Given the description of an element on the screen output the (x, y) to click on. 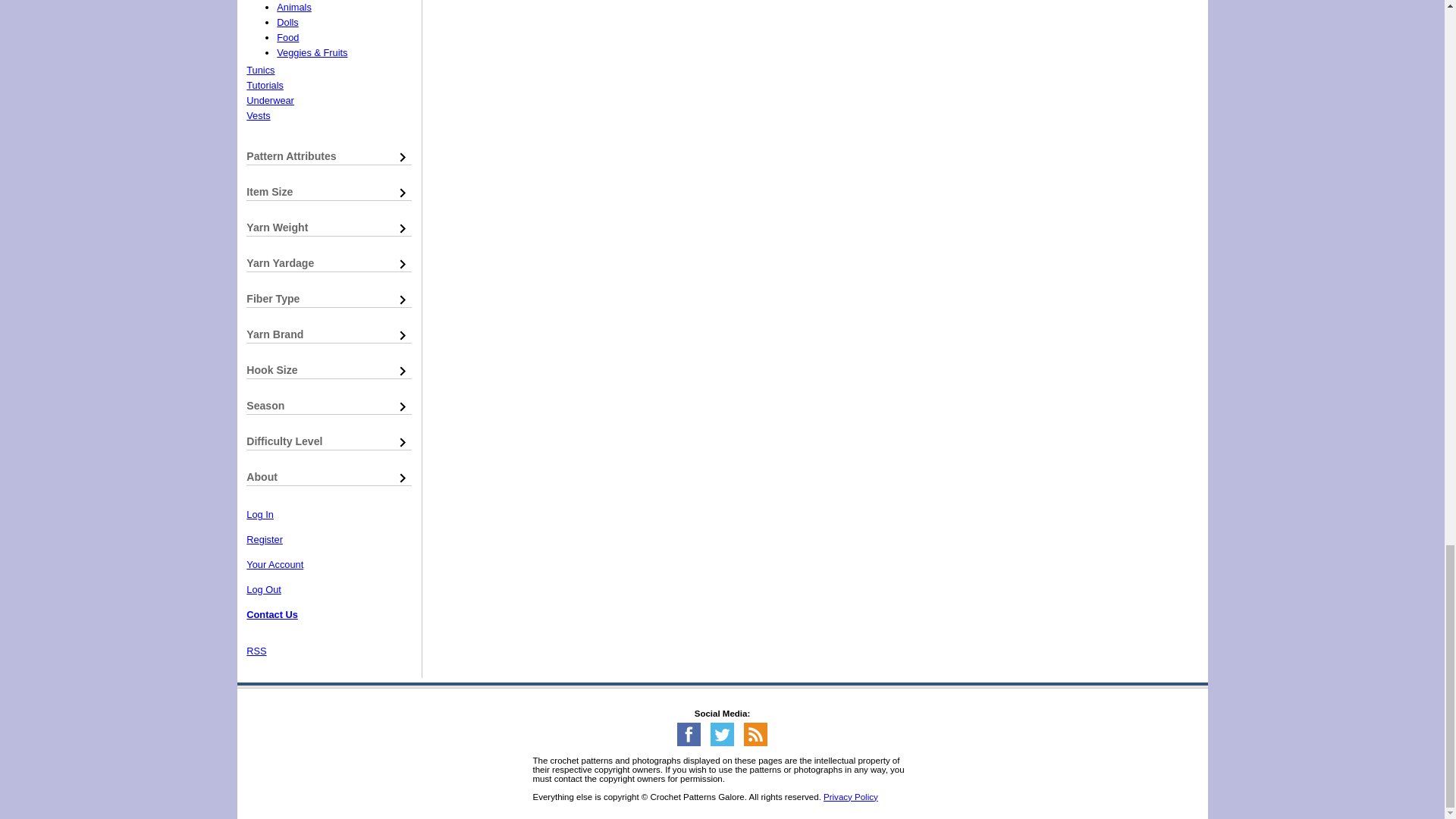
RSS Feed (755, 742)
Twitter (721, 742)
Facebook Page (688, 742)
